Given the description of an element on the screen output the (x, y) to click on. 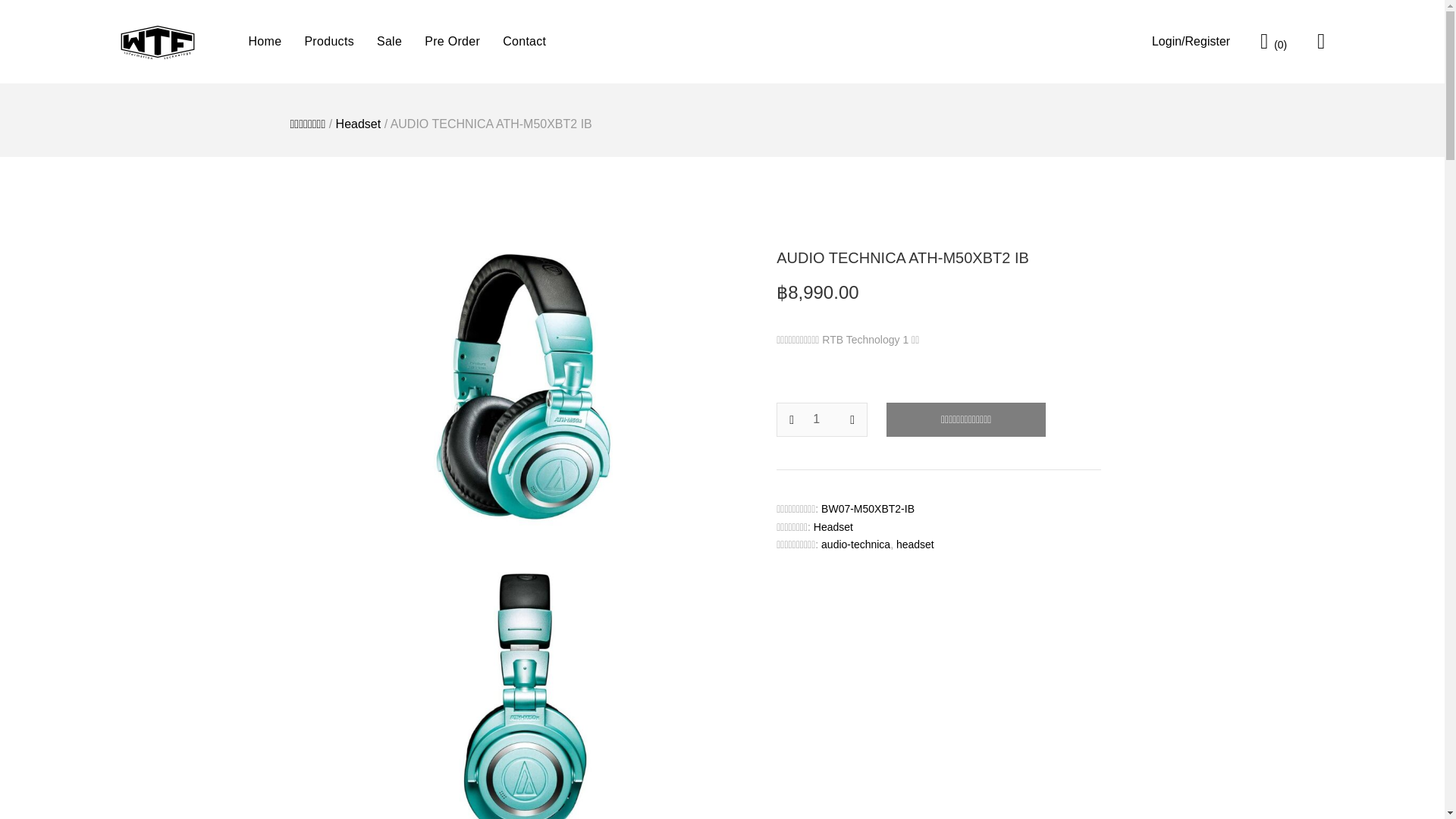
Pre Order (452, 41)
headset (915, 544)
Products (328, 41)
Login (1190, 41)
Headset (833, 526)
audio-technica (855, 544)
Home (265, 41)
Contact (524, 41)
1 (821, 419)
Sale (389, 41)
